Given the description of an element on the screen output the (x, y) to click on. 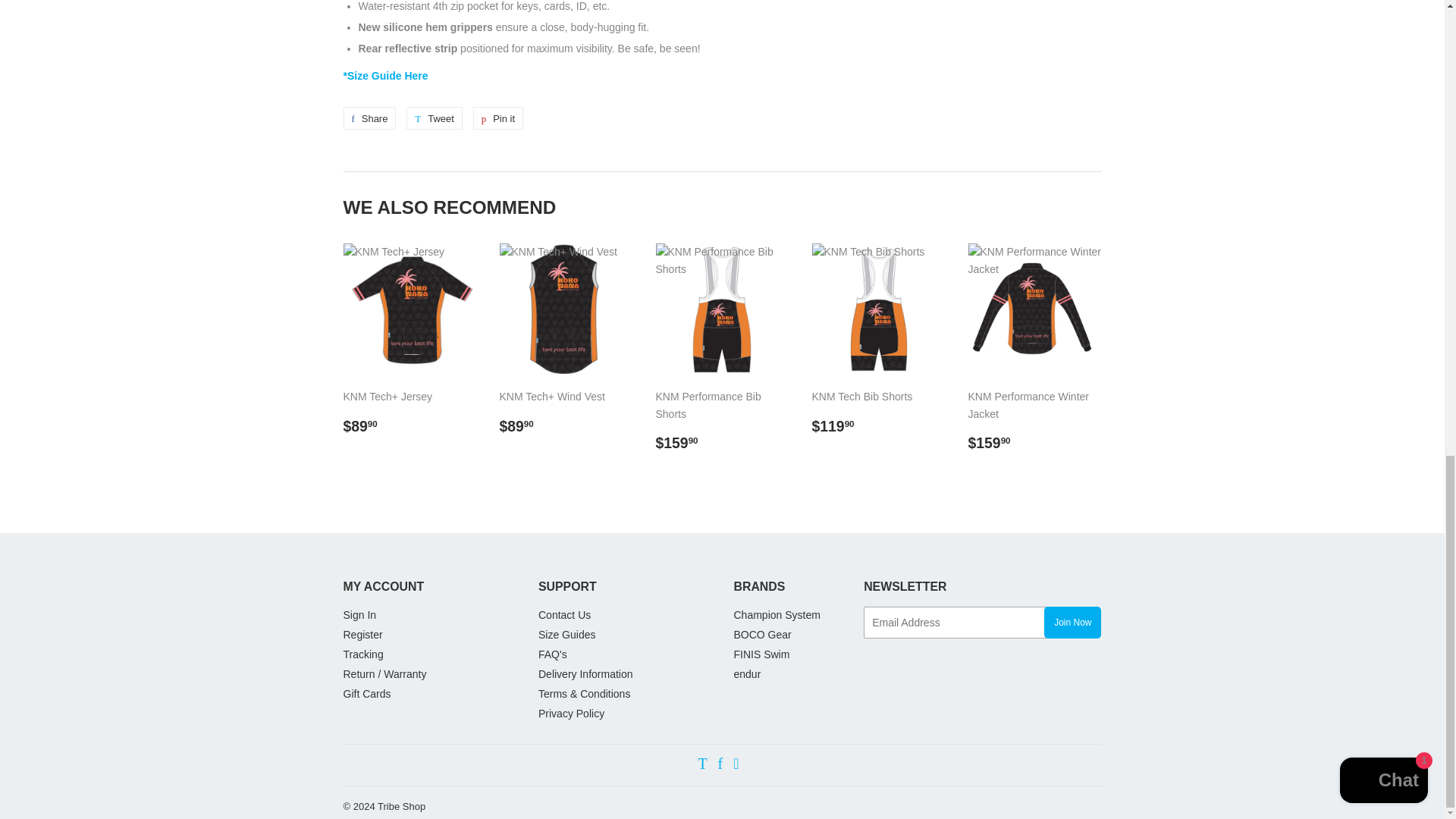
Pin on Pinterest (497, 118)
size guide (497, 118)
Share on Facebook (385, 75)
Tweet on Twitter (369, 118)
